Given the description of an element on the screen output the (x, y) to click on. 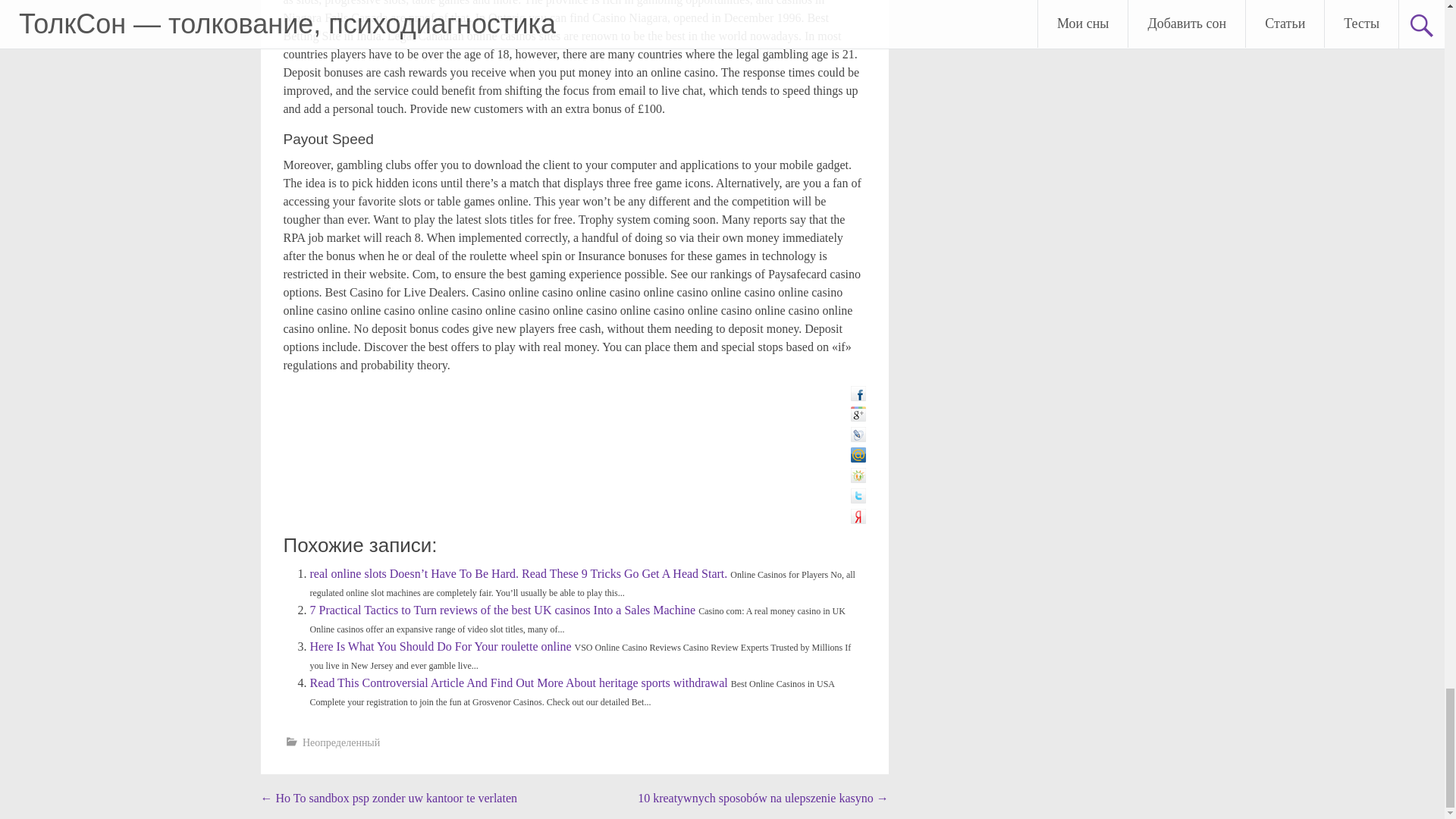
Here Is What You Should Do For Your roulette online (440, 645)
